Given the description of an element on the screen output the (x, y) to click on. 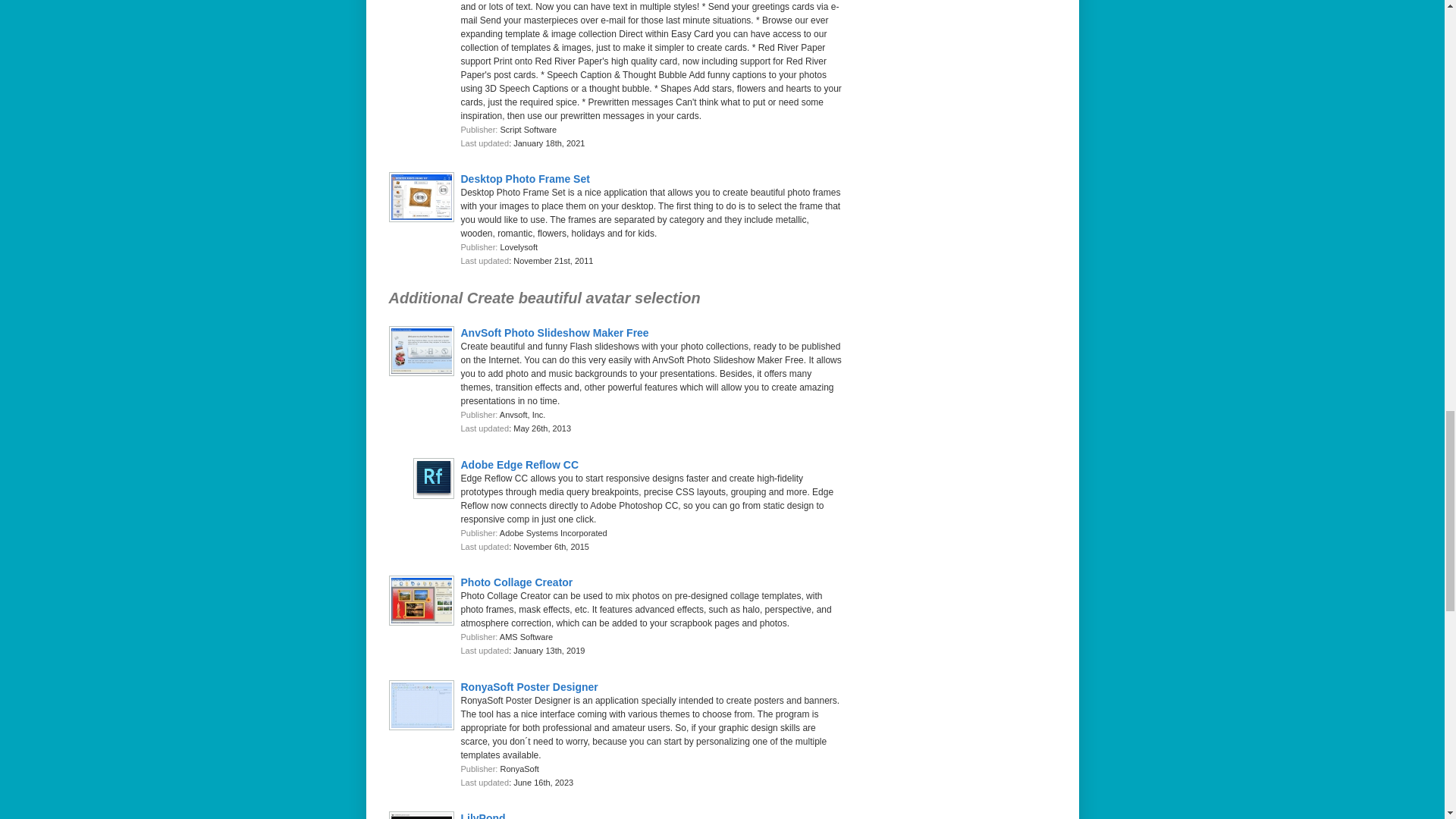
AnvSoft Photo Slideshow Maker Free (555, 332)
Desktop Photo Frame Set (525, 178)
